Given the description of an element on the screen output the (x, y) to click on. 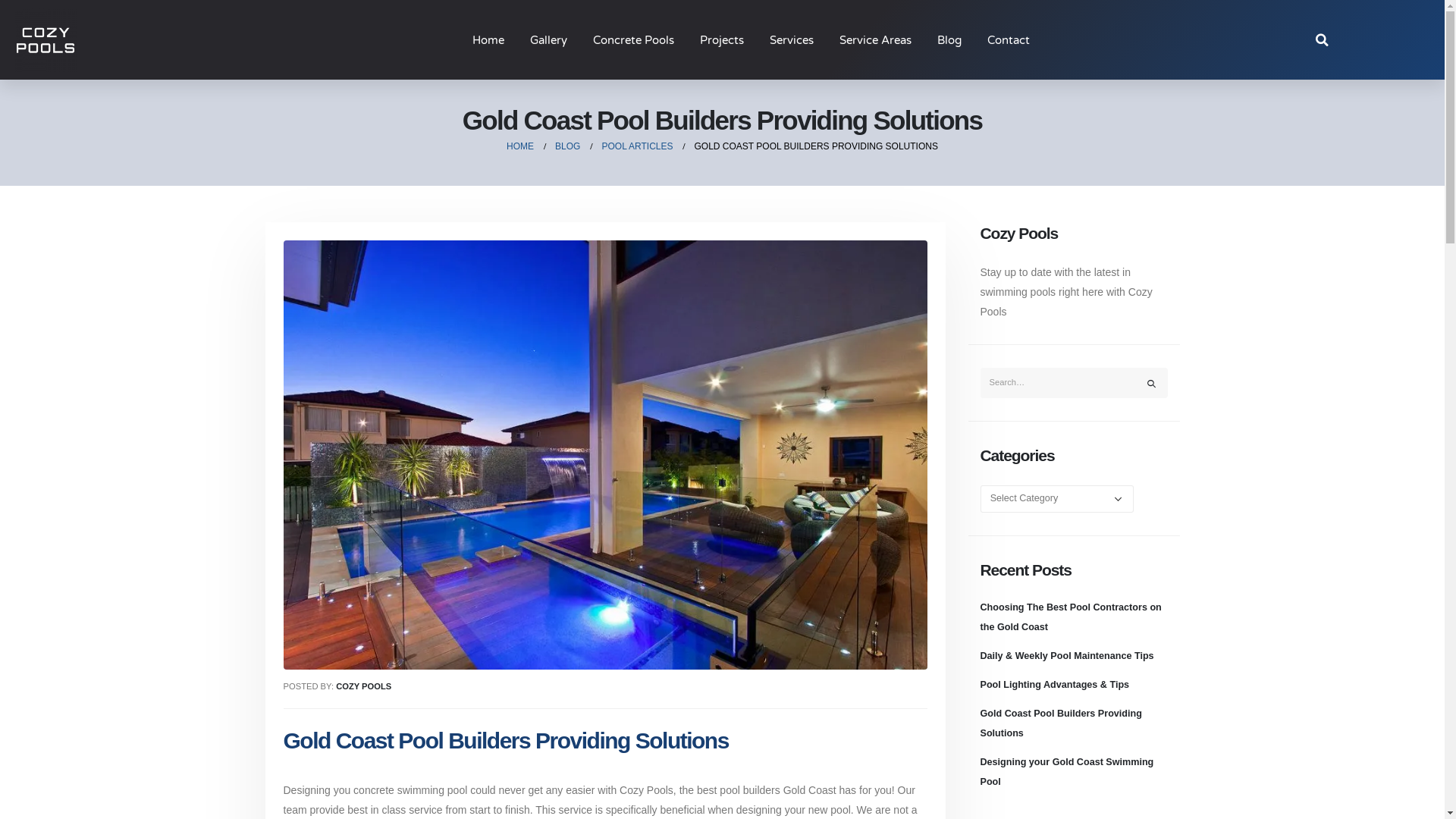
BLOG Element type: text (567, 146)
Blog Element type: text (949, 40)
HOME Element type: text (519, 146)
Daily & Weekly Pool Maintenance Tips Element type: text (1066, 655)
POOL ARTICLES Element type: text (636, 146)
Choosing The Best Pool Contractors on the Gold Coast Element type: text (1070, 617)
Concrete Pools Element type: text (633, 40)
Services Element type: text (791, 40)
Gallery Element type: text (548, 40)
Home Element type: text (488, 40)
Gold Coast Pool Builders Providing Solutions Element type: text (1060, 723)
Service Areas Element type: text (875, 40)
Pool Lighting Advantages & Tips Element type: text (1054, 684)
Designing your Gold Coast Swimming Pool Element type: text (1066, 771)
Contact Element type: text (1008, 40)
Projects Element type: text (721, 40)
